Given the description of an element on the screen output the (x, y) to click on. 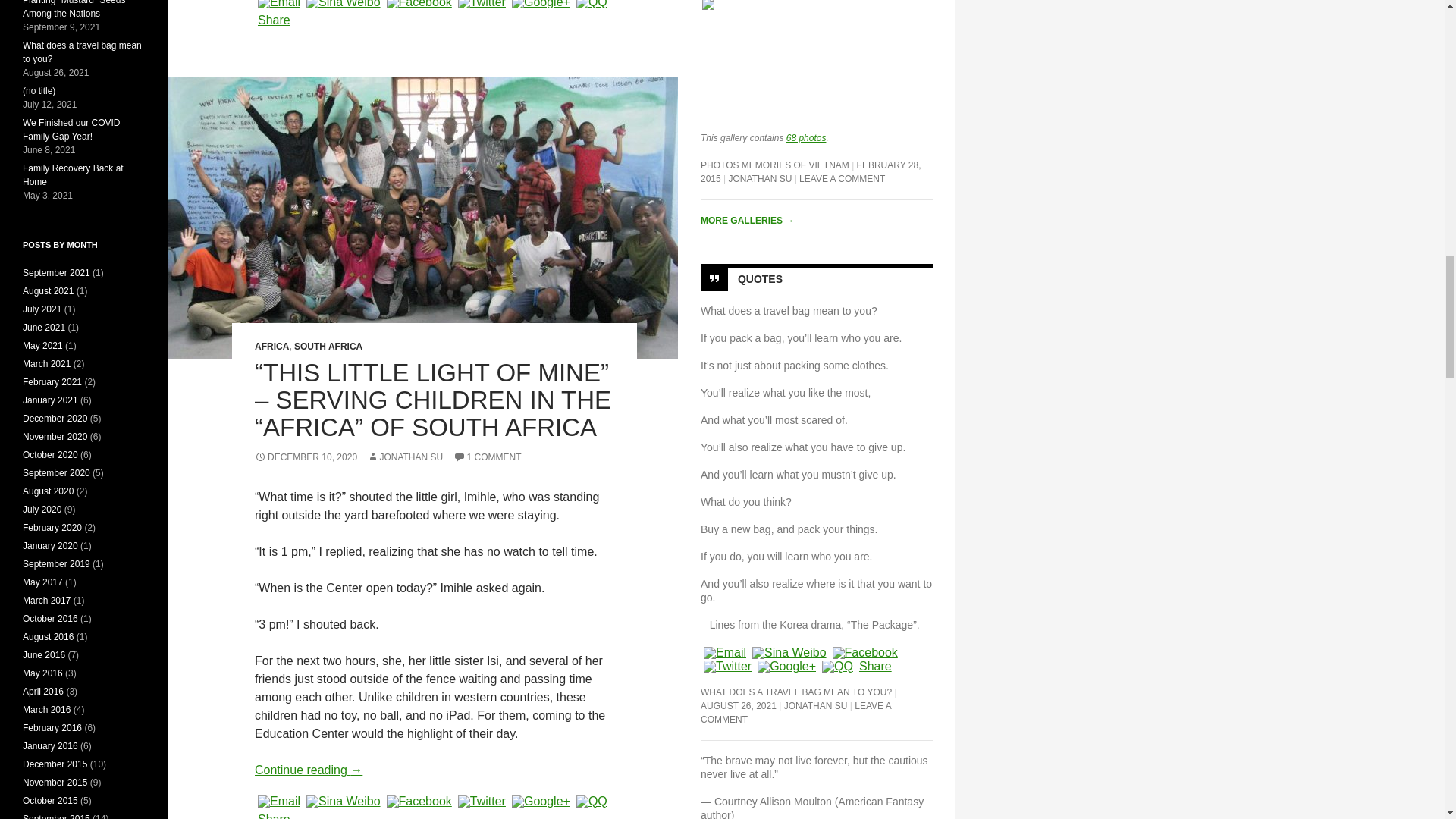
Twitter (481, 801)
Facebook (419, 4)
Facebook (419, 801)
QQ (591, 4)
Email (278, 801)
Sina Weibo (343, 801)
Sina Weibo (343, 4)
Email (278, 4)
Twitter (481, 4)
